Given the description of an element on the screen output the (x, y) to click on. 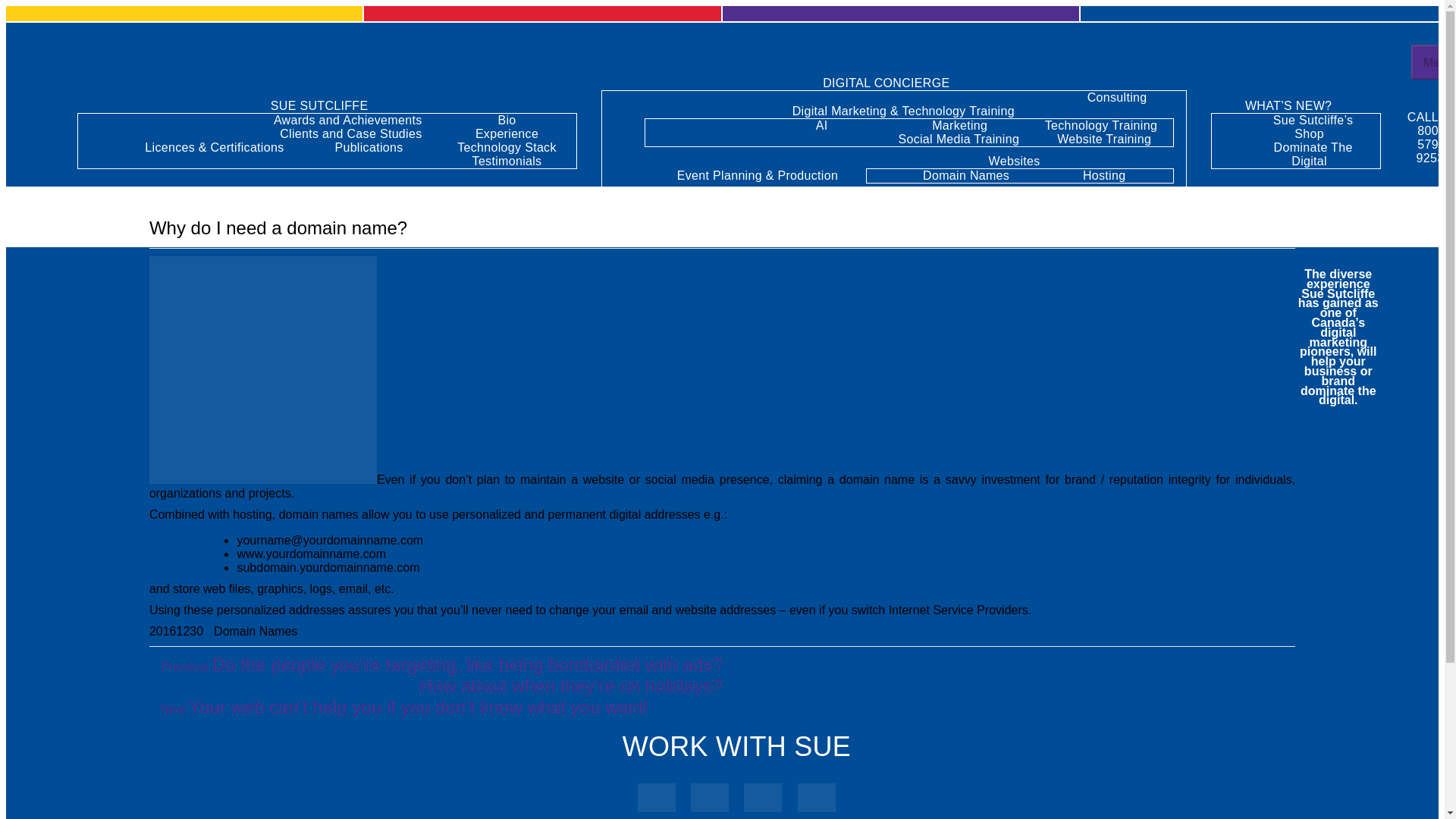
20161230 (176, 631)
Technology Training (1100, 125)
Domain Names (965, 175)
Dominate The Digital (1312, 154)
Technology Stack (506, 147)
Awards and Achievements (347, 119)
Bio (506, 119)
Hosting (1103, 175)
WORK WITH SUE (736, 746)
AI (821, 125)
DIGITAL CONCIERGE (892, 82)
Domain Names (255, 631)
Experience (506, 133)
Websites (1020, 160)
